Given the description of an element on the screen output the (x, y) to click on. 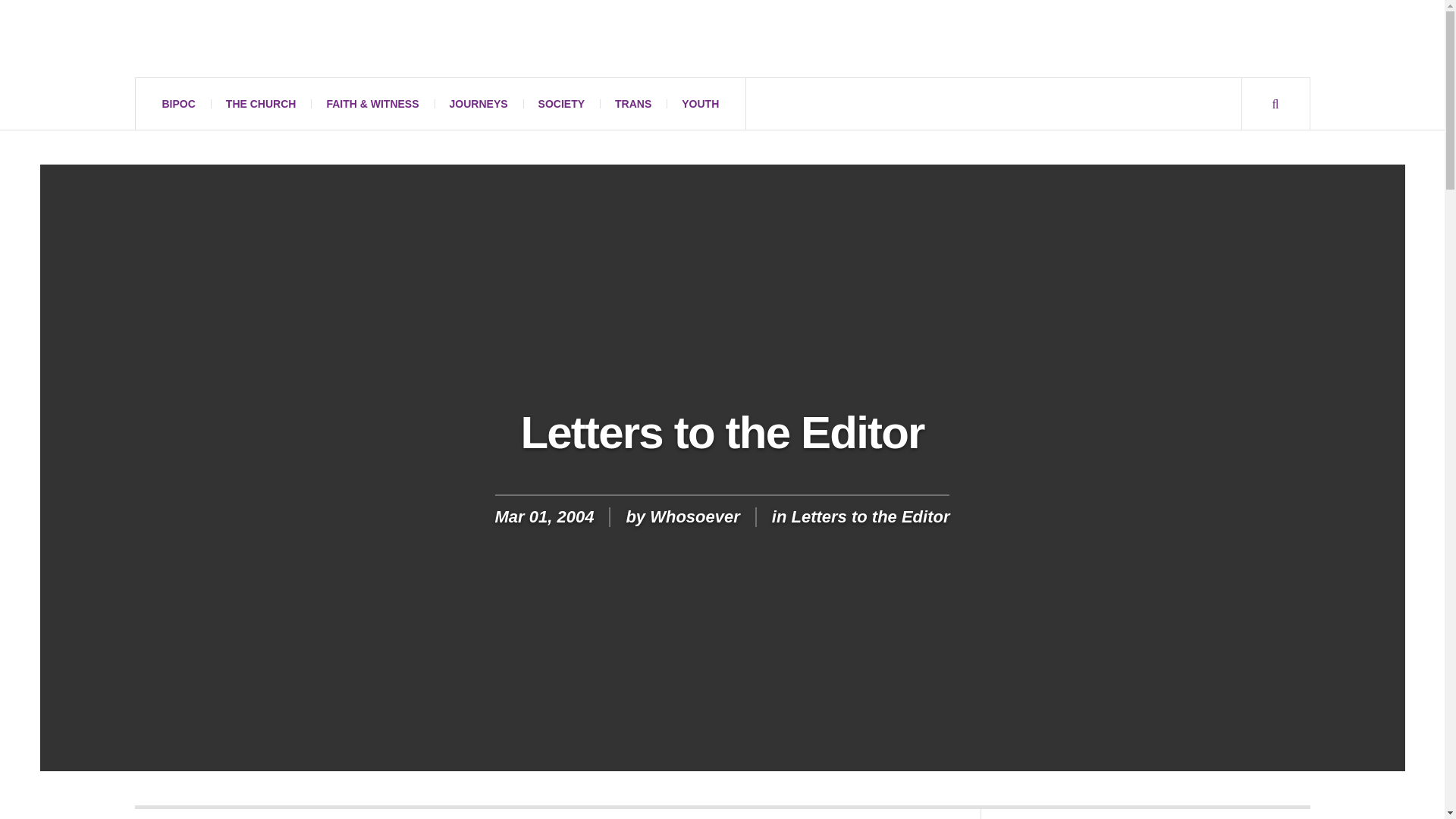
JOURNEYS (477, 103)
SOCIETY (560, 103)
Whosoever (274, 38)
View all posts in Letters to the Editor (869, 516)
YOUTH (699, 103)
TRANS (632, 103)
Whosoever (694, 516)
BIPOC (179, 103)
Letters to the Editor (869, 516)
THE CHURCH (261, 103)
